Given the description of an element on the screen output the (x, y) to click on. 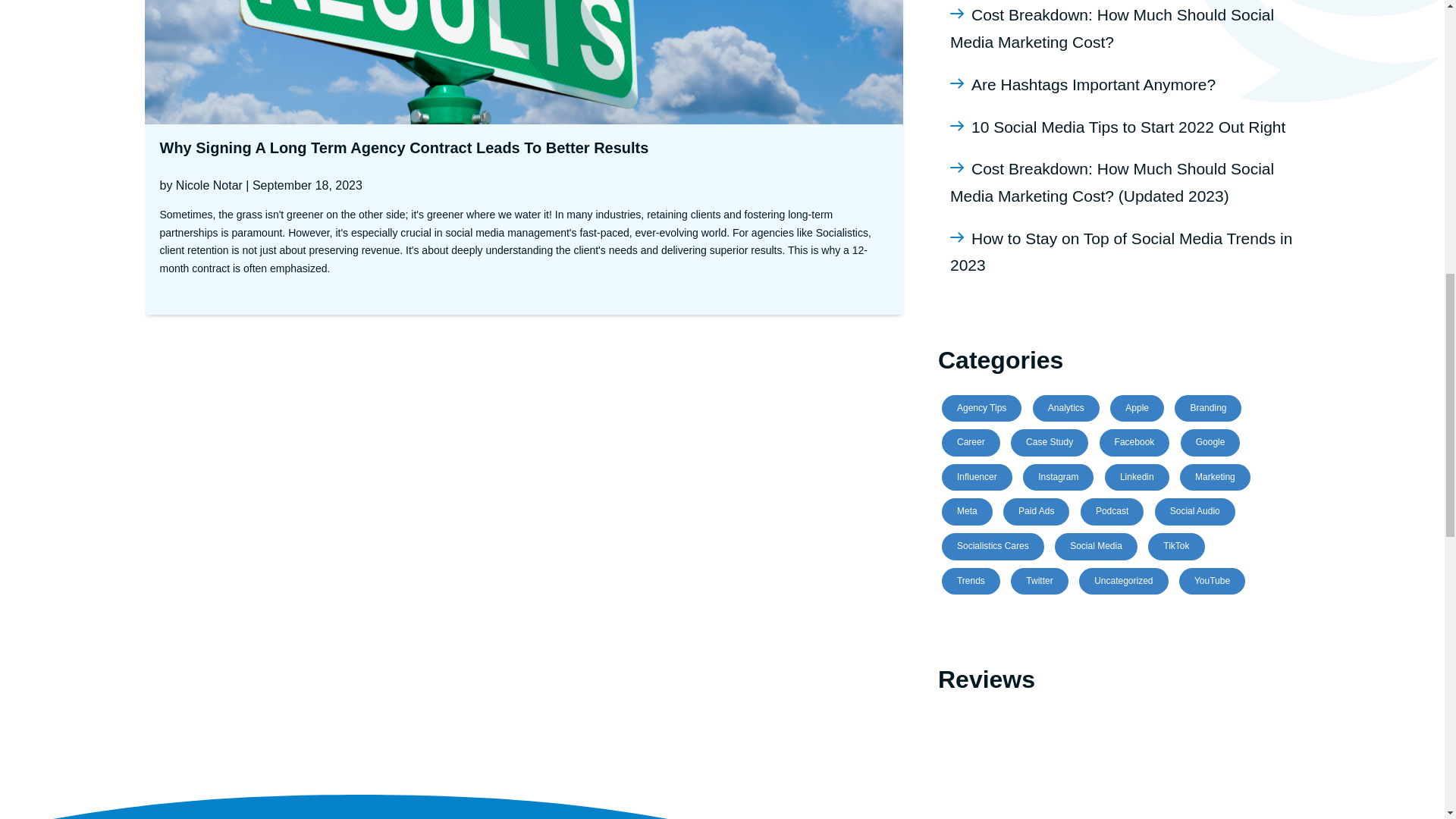
by Nicole Notar (199, 185)
Cost Breakdown: How Much Should Social Media Marketing Cost? (1112, 29)
How to Stay on Top of Social Media Trends in 2023 (1121, 253)
Are Hashtags Important Anymore? (1093, 85)
10 Social Media Tips to Start 2022 Out Right (1128, 127)
